Given the description of an element on the screen output the (x, y) to click on. 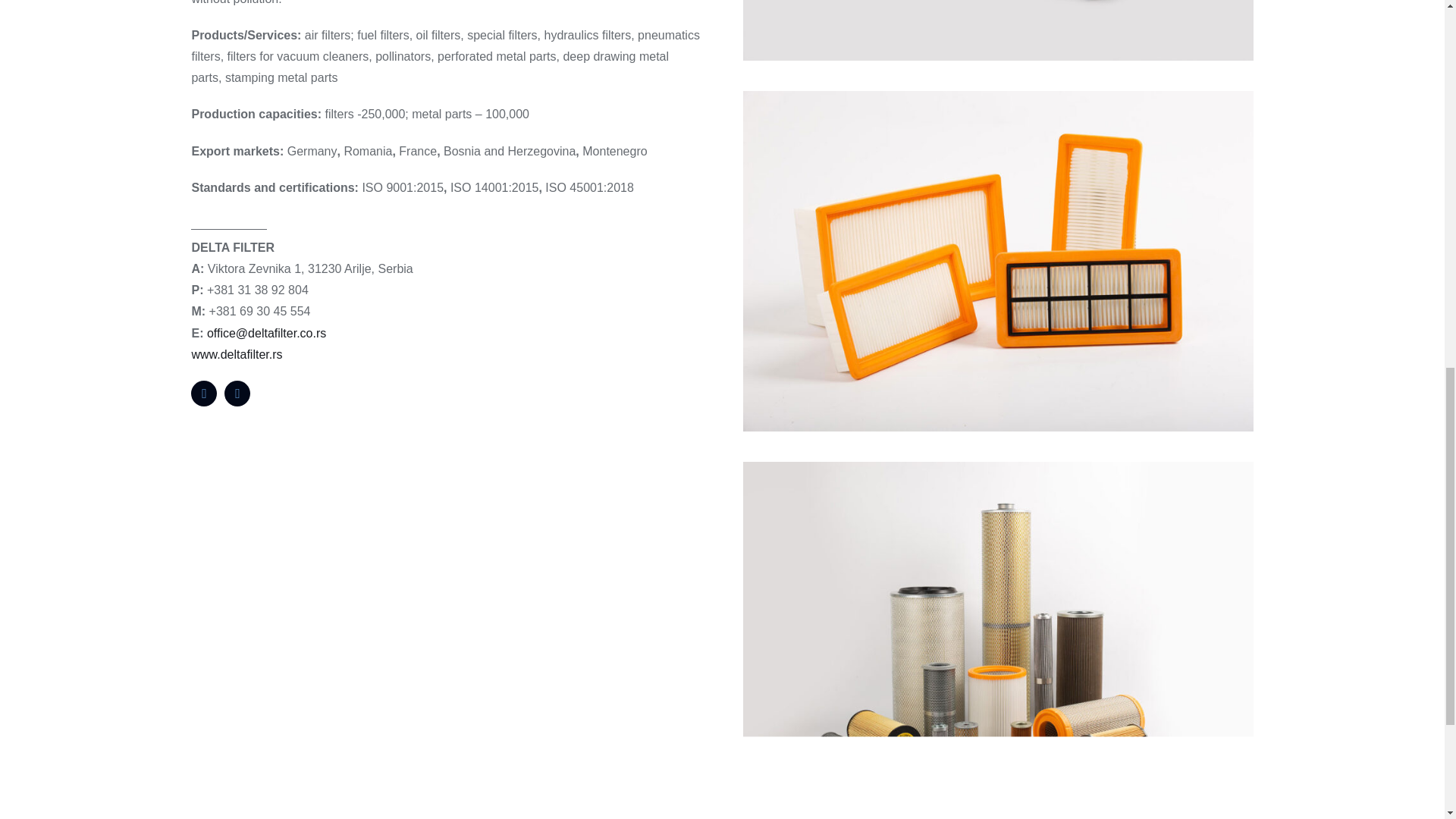
02delta (997, 467)
01delta (997, 96)
